Given the description of an element on the screen output the (x, y) to click on. 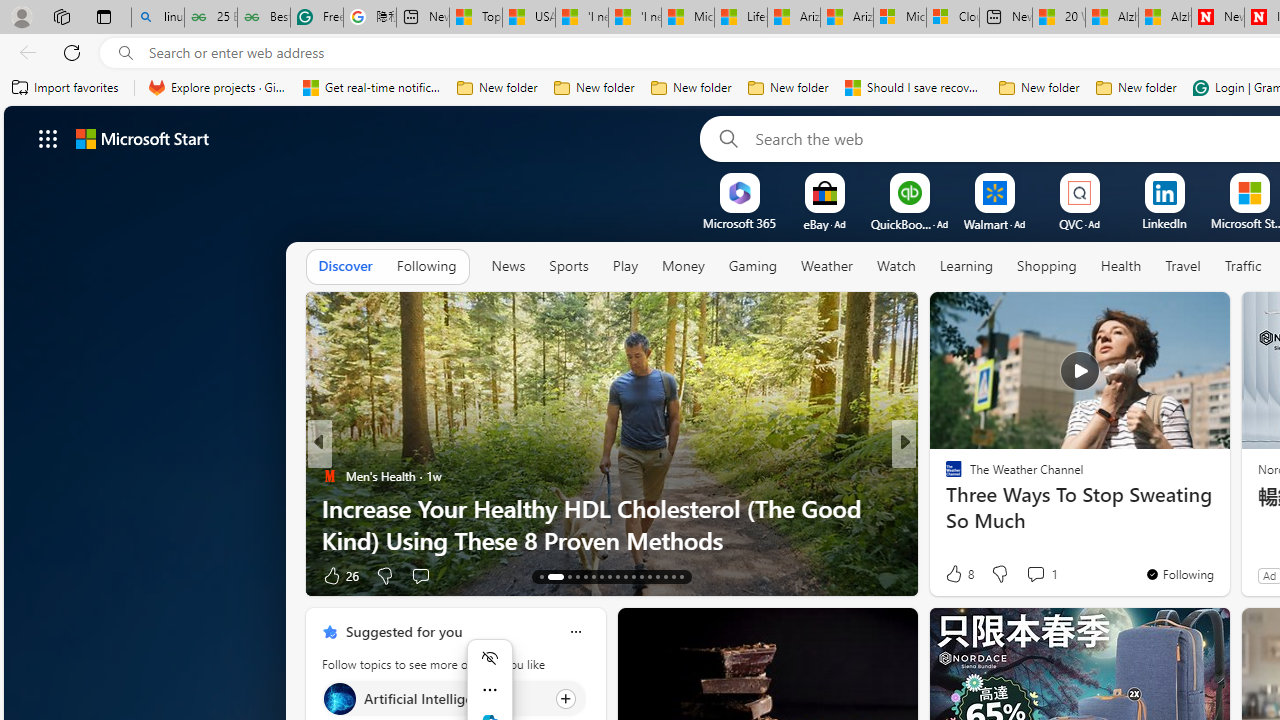
Microsoft start (142, 138)
AutomationID: tab-26 (656, 576)
Sports (568, 265)
Import favorites (65, 88)
61 Like (956, 574)
AutomationID: tab-16 (577, 576)
More actions (490, 689)
120 Like (959, 574)
Click to follow topic Artificial Intelligence (453, 698)
Shopping (1046, 267)
AutomationID: tab-15 (568, 576)
20 Ways to Boost Your Protein Intake at Every Meal (1059, 17)
View comments 2 Comment (1035, 574)
Suggested for you (404, 631)
